Given the description of an element on the screen output the (x, y) to click on. 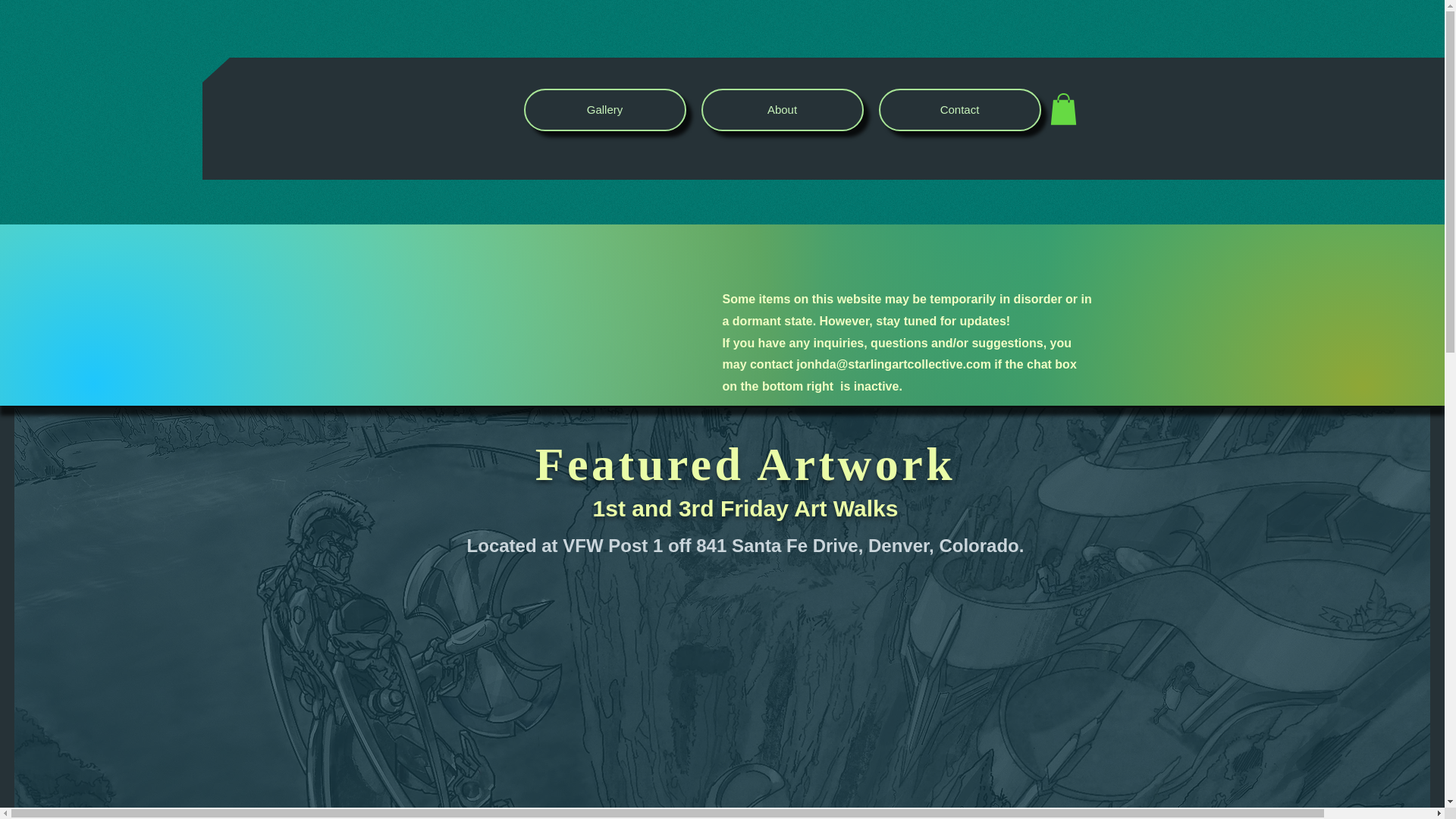
Contact (959, 109)
Gallery (603, 109)
About (781, 109)
